Given the description of an element on the screen output the (x, y) to click on. 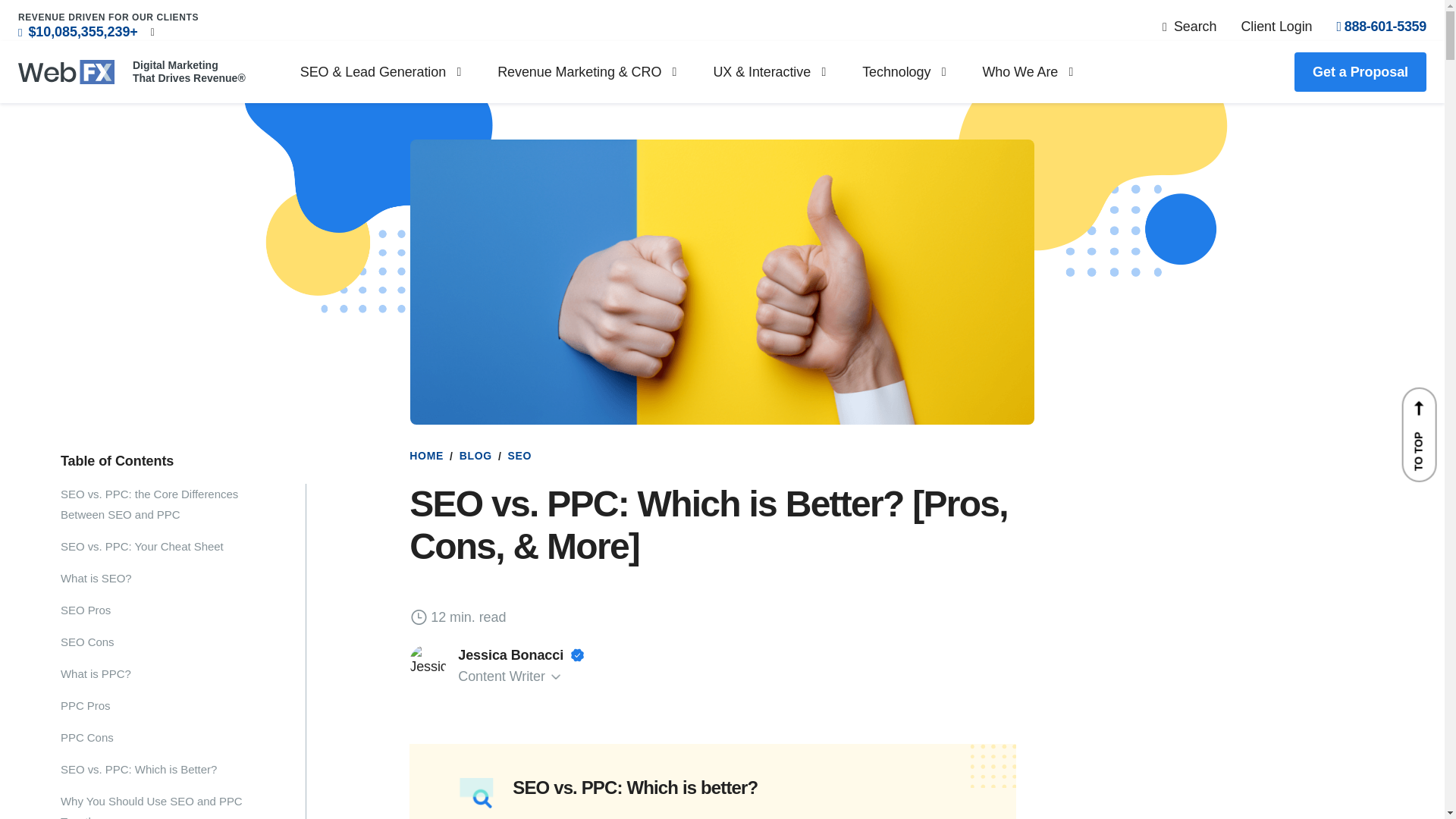
888-601-5359 (1381, 26)
Search (1189, 26)
Client Login (1275, 26)
